Given the description of an element on the screen output the (x, y) to click on. 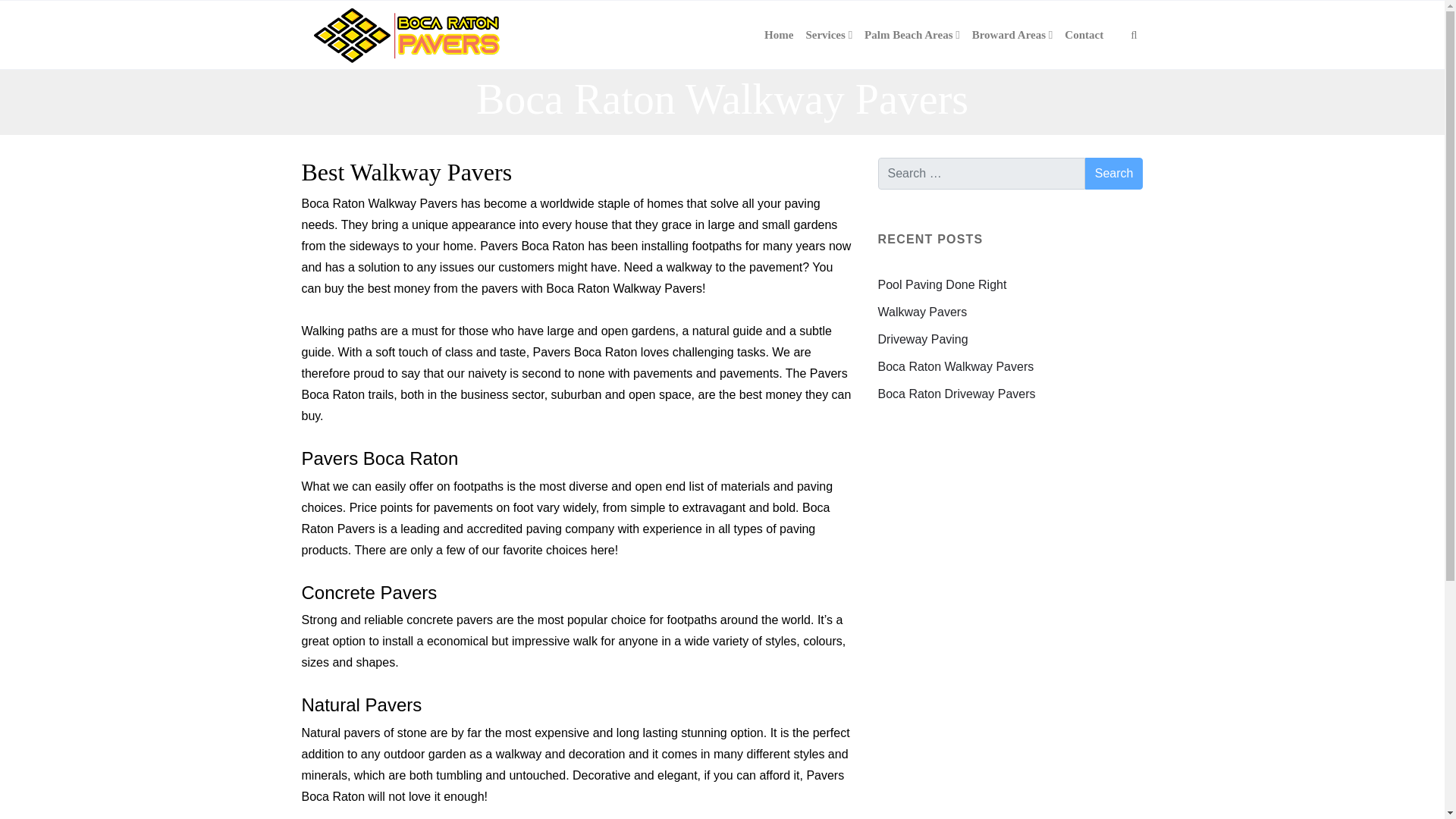
Broward Areas (1012, 34)
Walkway Pavers (922, 311)
Driveway Paving (922, 338)
Search (1113, 173)
Boca Raton Pavers (406, 34)
Palm Beach Areas (912, 34)
Palm Beach Areas (912, 34)
Pool Paving Done Right (942, 284)
Search (1113, 173)
Broward Areas (1012, 34)
